Given the description of an element on the screen output the (x, y) to click on. 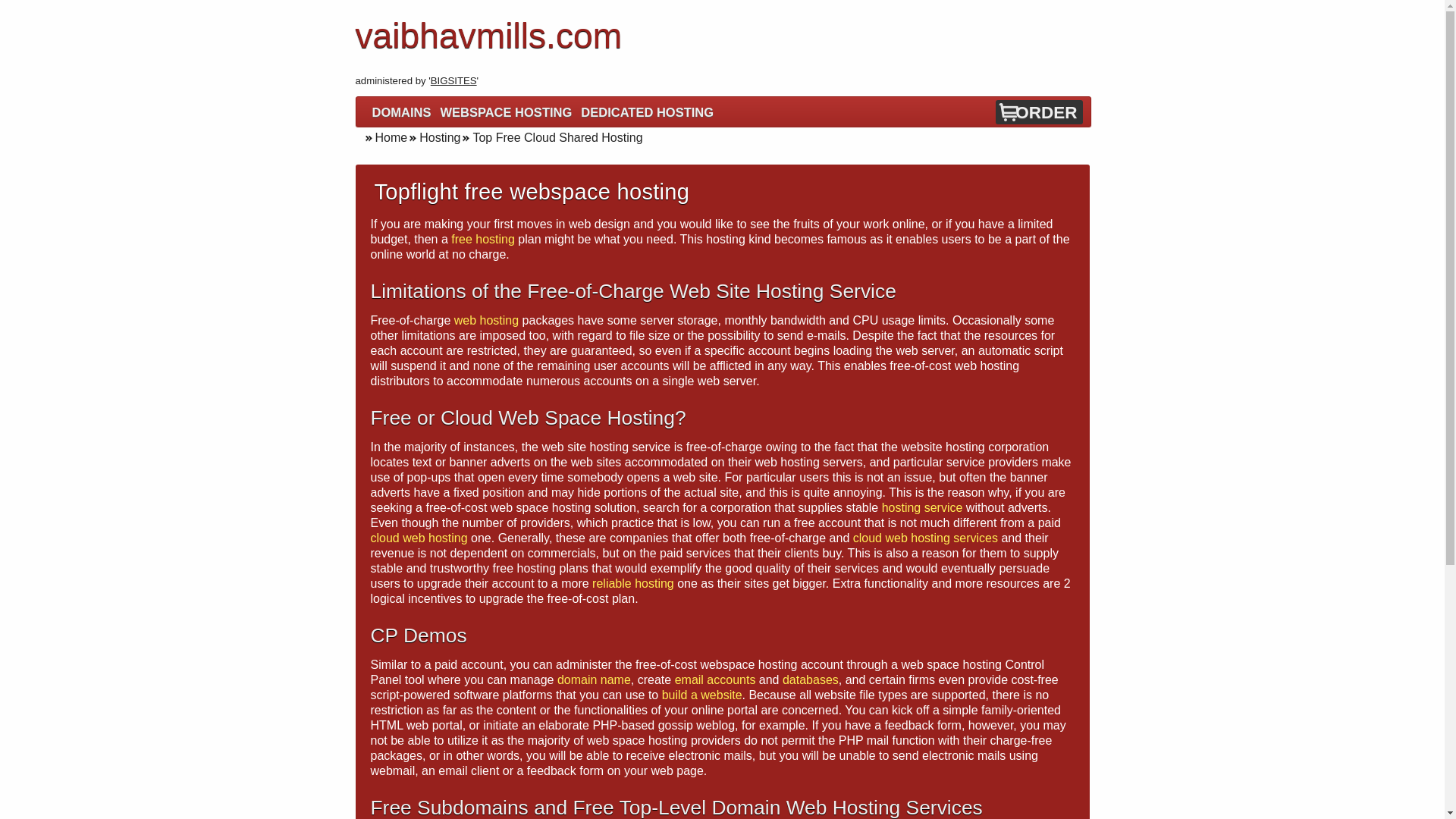
domain name (593, 679)
build a website (702, 694)
web hosting (486, 319)
Home (384, 137)
cloud web hosting services (925, 537)
cloud web hosting (418, 537)
DOMAINS (401, 112)
WEBSPACE HOSTING (505, 112)
reliable hosting (633, 583)
ORDER (1045, 112)
free hosting (483, 238)
hosting service (922, 507)
databases (810, 679)
Hosting (433, 137)
email accounts (715, 679)
